Given the description of an element on the screen output the (x, y) to click on. 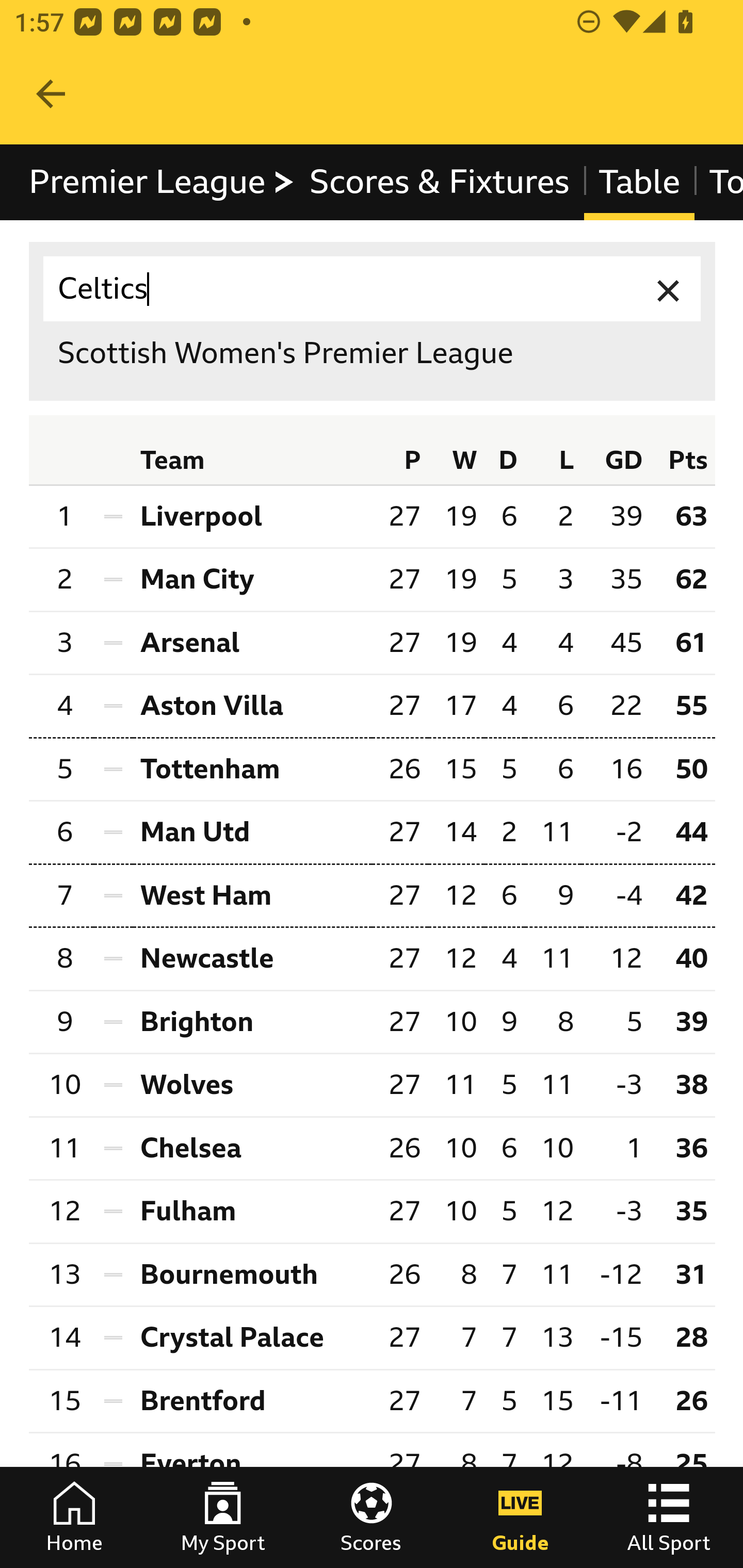
Navigate up (50, 93)
Premier League  (162, 181)
Scores & Fixtures (439, 181)
Table (638, 181)
Celtics (372, 289)
Clear input (669, 289)
Scottish Women's Premier League (372, 353)
Liverpool (252, 516)
Man City Manchester City (252, 579)
Arsenal (252, 642)
Aston Villa (252, 705)
Tottenham Tottenham Hotspur (252, 769)
Man Utd Manchester United (252, 832)
West Ham West Ham United (252, 896)
Newcastle Newcastle United (252, 959)
Brighton Brighton & Hove Albion (252, 1021)
Wolves Wolverhampton Wanderers (252, 1084)
Chelsea (252, 1148)
Fulham (252, 1210)
Bournemouth AFC Bournemouth (252, 1273)
Crystal Palace (252, 1337)
Brentford (252, 1400)
Home (74, 1517)
My Sport (222, 1517)
Scores (371, 1517)
All Sport (668, 1517)
